Given the description of an element on the screen output the (x, y) to click on. 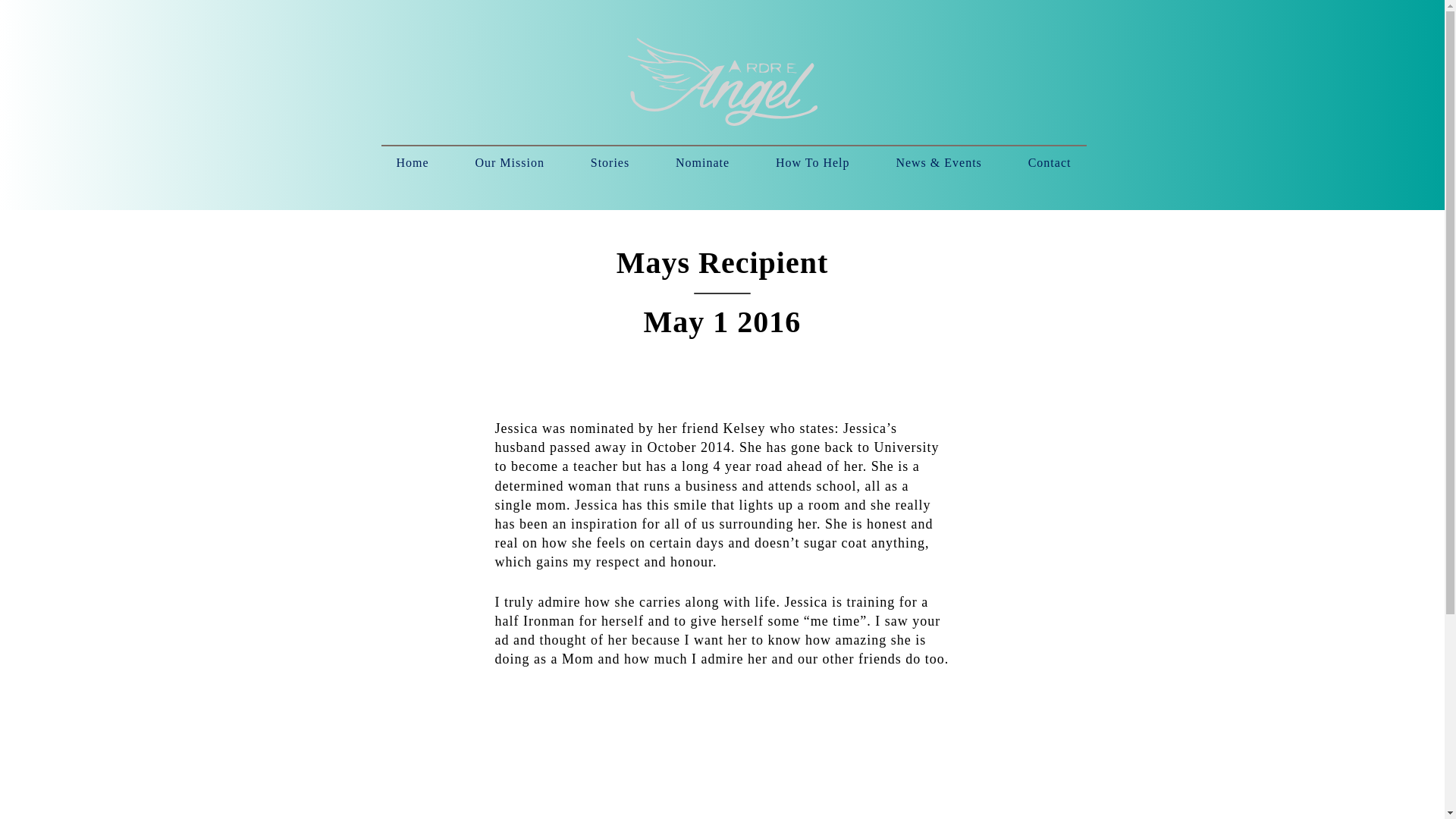
May Recipient (722, 769)
Home (412, 162)
Nominate (702, 162)
Stories (610, 162)
How To Help (812, 162)
Our Mission (509, 162)
Contact (1049, 162)
